Given the description of an element on the screen output the (x, y) to click on. 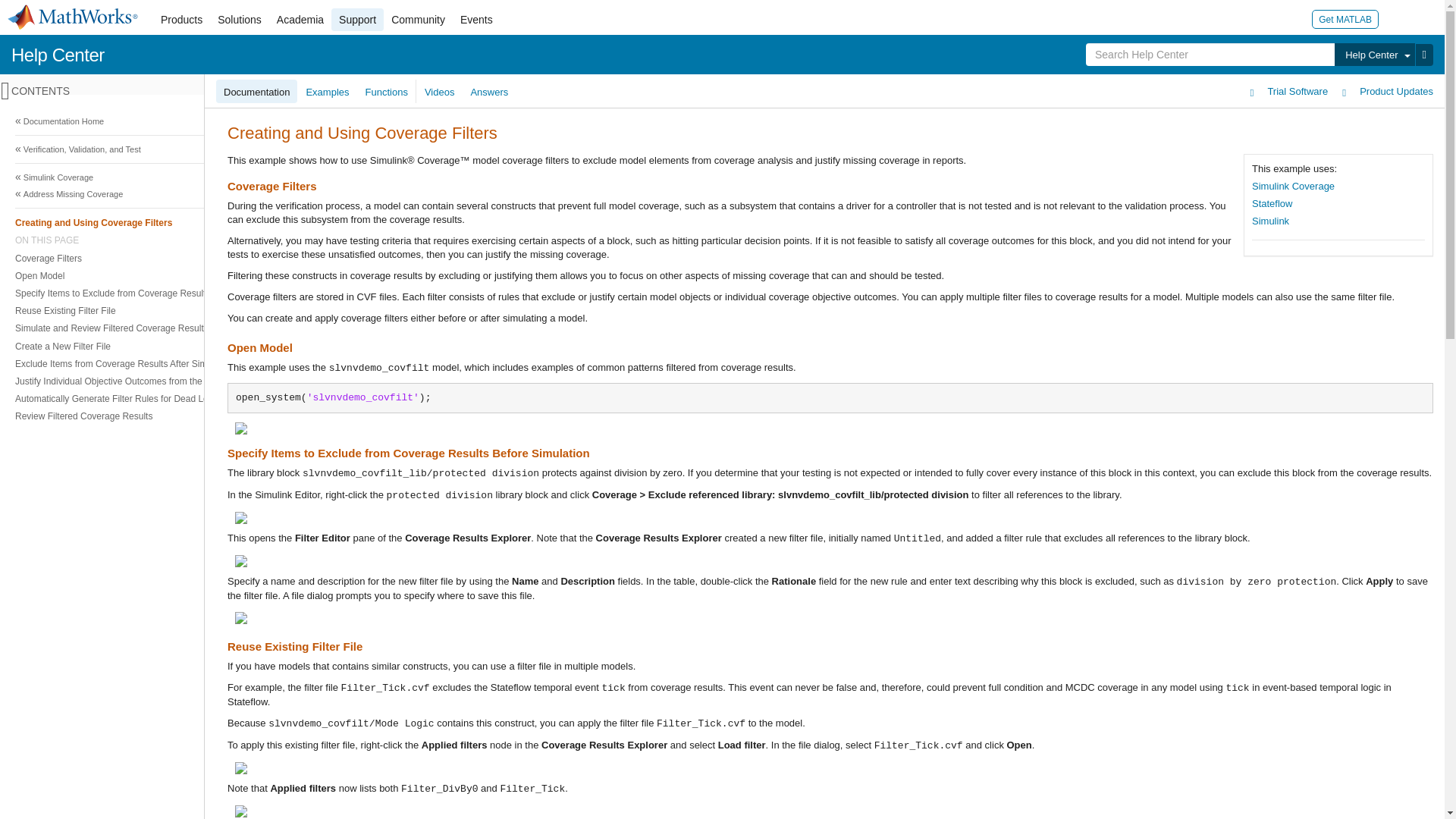
Creating and Using Coverage Filters (718, 221)
Get MATLAB (1344, 18)
Community (418, 19)
Solutions (239, 19)
Products (180, 19)
Support (357, 19)
Documentation Home (720, 121)
Help Center (57, 54)
Coverage Filters (718, 257)
Events (476, 19)
Open Model (718, 275)
Reuse Existing Filter File (718, 310)
Verification, Validation, and Test (720, 149)
